Given the description of an element on the screen output the (x, y) to click on. 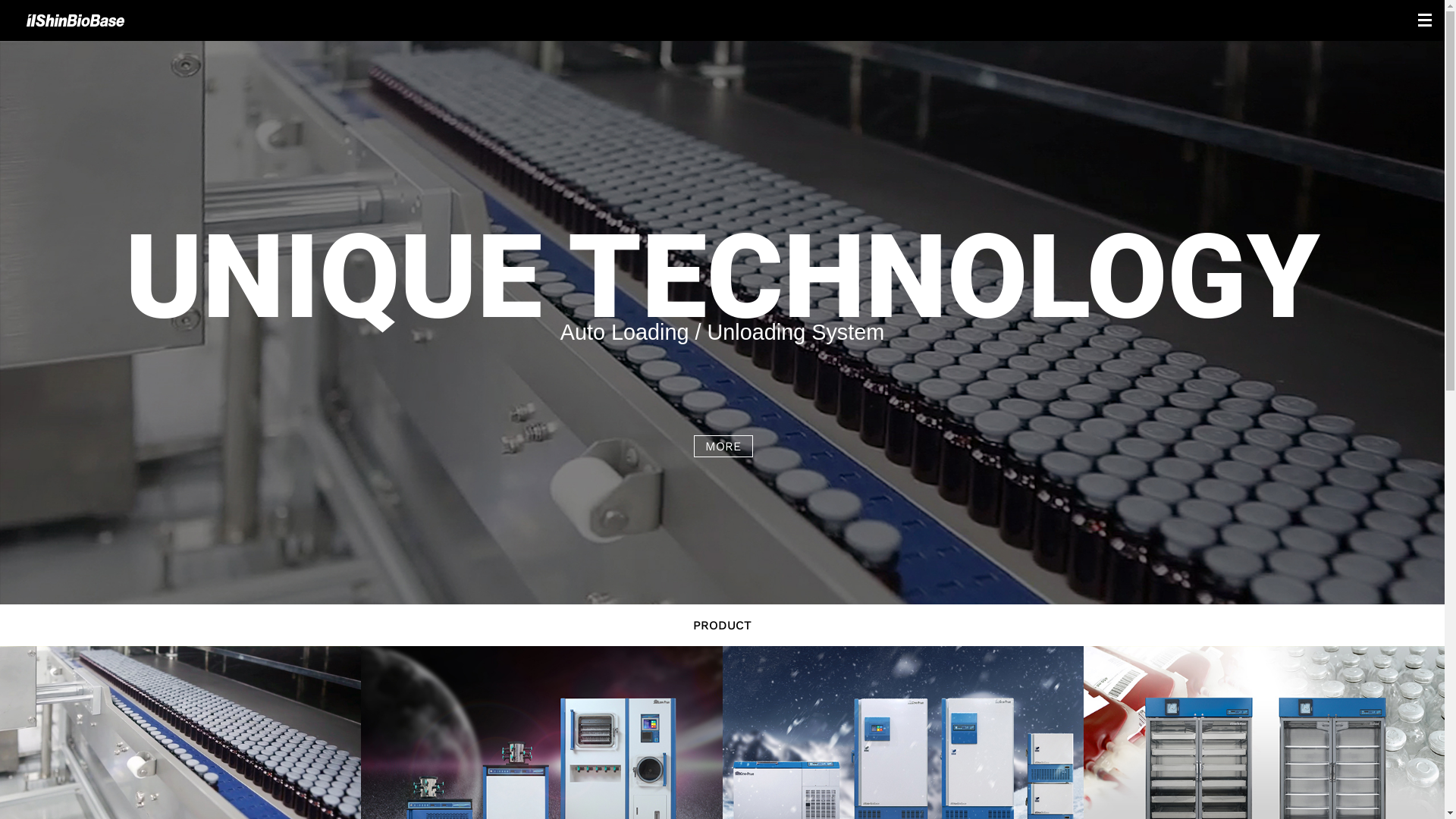
MORE Element type: text (722, 446)
